Given the description of an element on the screen output the (x, y) to click on. 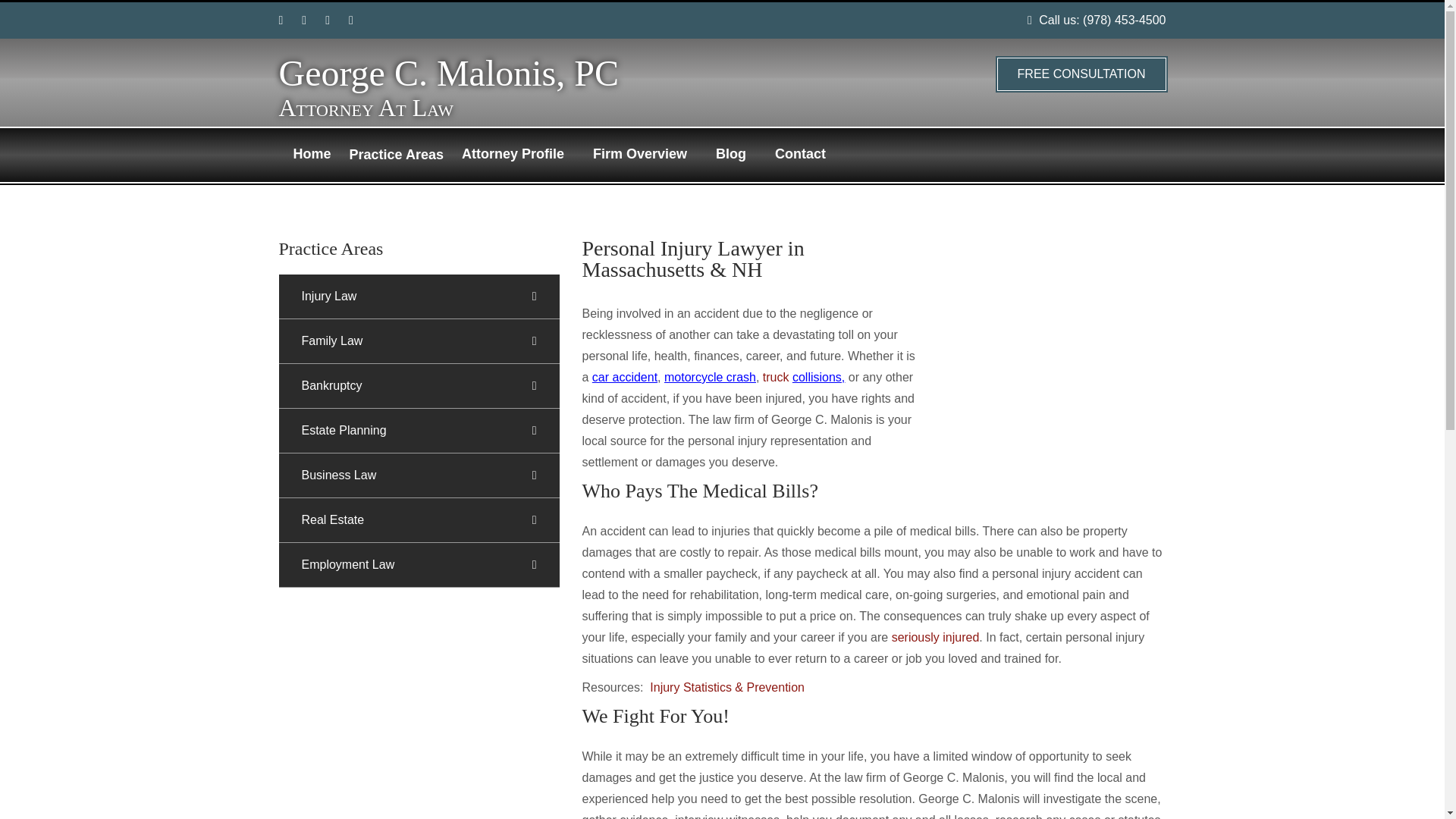
George C. Malonis, PC (448, 73)
FREE CONSULTATION (1081, 73)
linkedin (350, 20)
twitter (327, 20)
George C. Malonis, PC (448, 73)
Home (311, 154)
googleplus (304, 20)
